Given the description of an element on the screen output the (x, y) to click on. 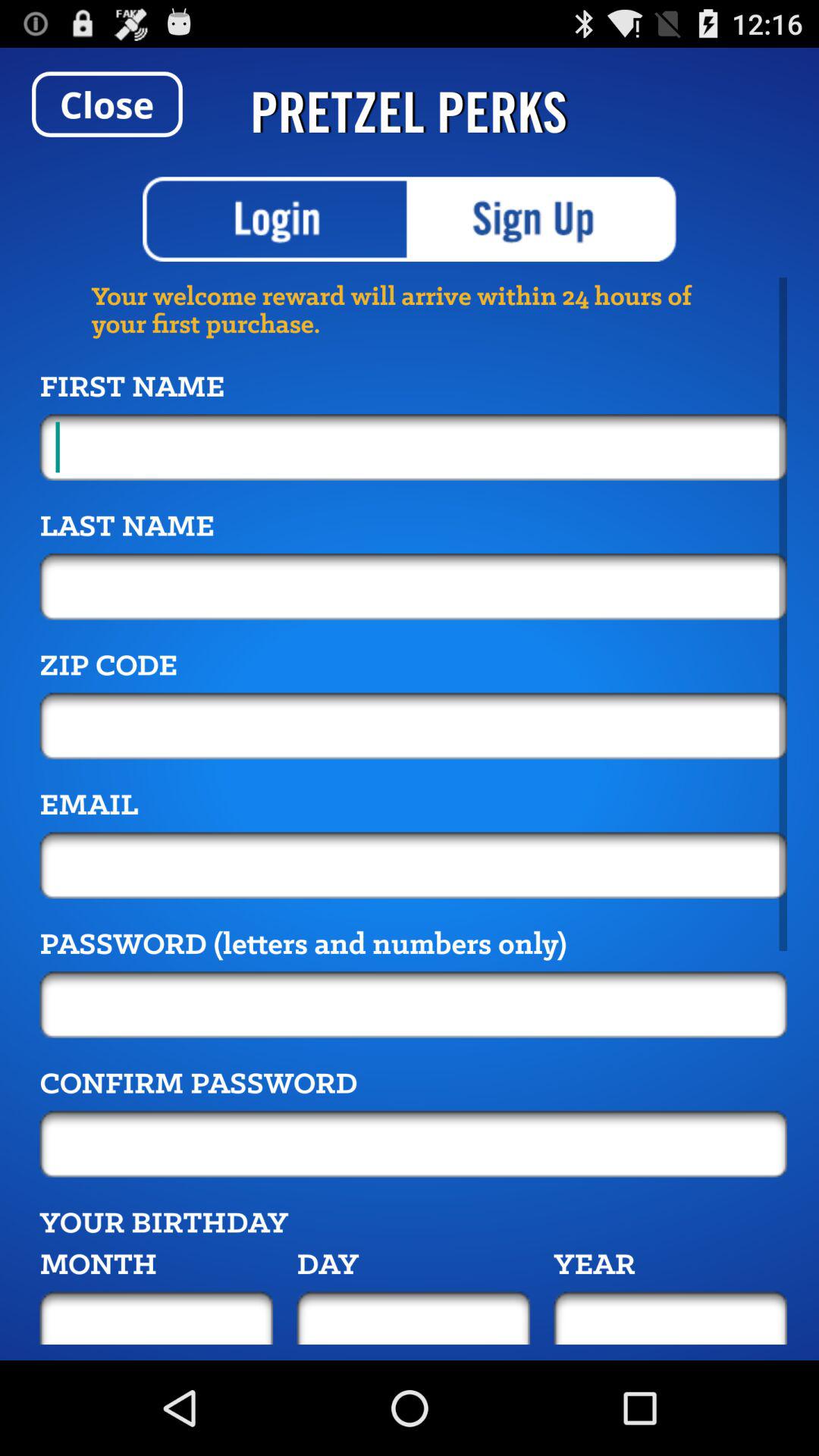
enter e-mail adress (413, 865)
